Given the description of an element on the screen output the (x, y) to click on. 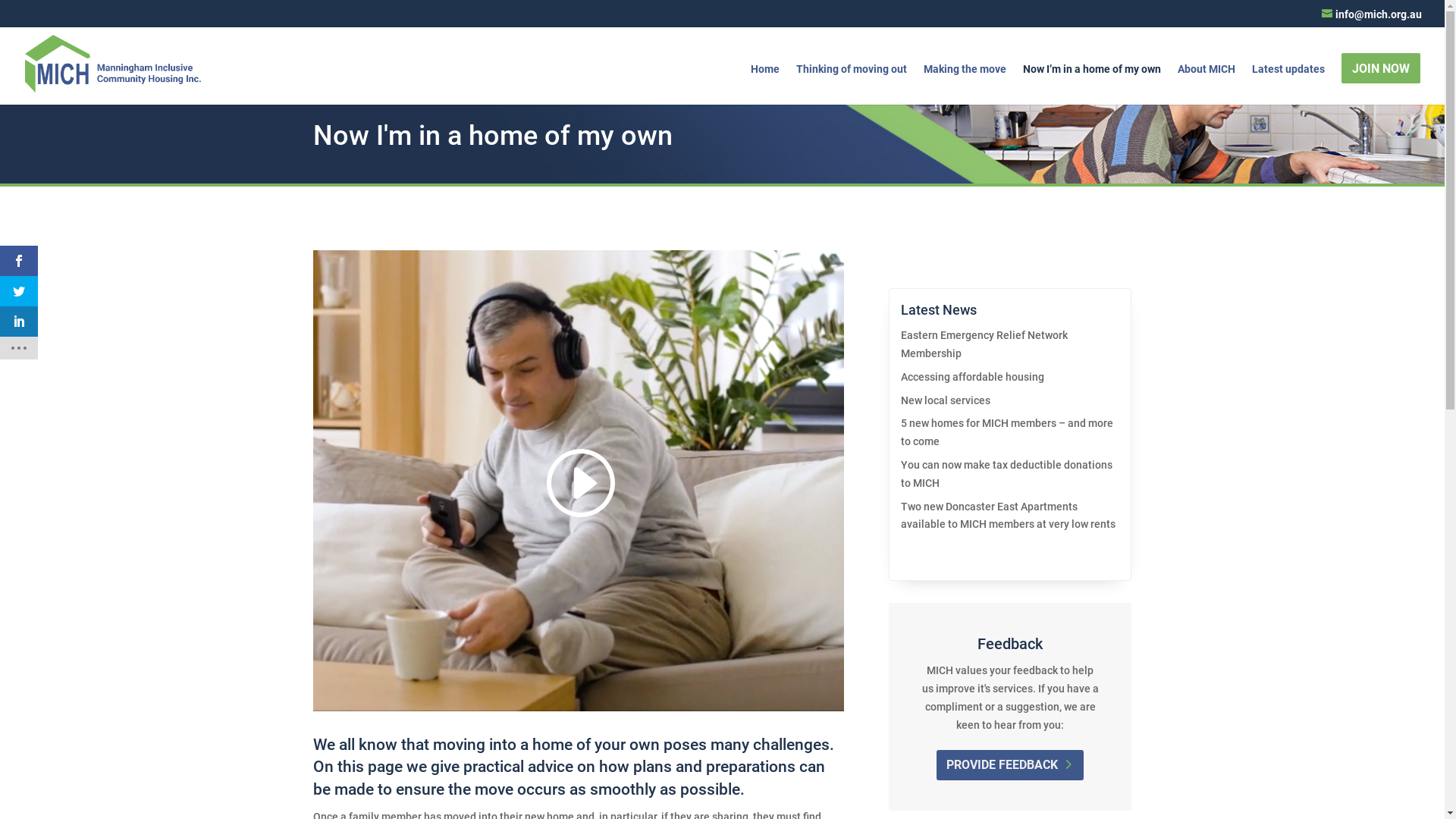
Now I'm in a home of my own Element type: hover (577, 480)
Thinking of moving out Element type: text (851, 83)
info@mich.org.au Element type: text (1371, 13)
Eastern Emergency Relief Network Membership Element type: text (983, 344)
About MICH Element type: text (1206, 83)
You can now make tax deductible donations to MICH Element type: text (1006, 473)
Making the move Element type: text (964, 83)
Latest updates Element type: text (1288, 83)
JOIN NOW Element type: text (1380, 68)
PROVIDE FEEDBACK Element type: text (1009, 765)
New local services Element type: text (945, 400)
Accessing affordable housing Element type: text (972, 376)
Home Element type: text (764, 83)
